Given the description of an element on the screen output the (x, y) to click on. 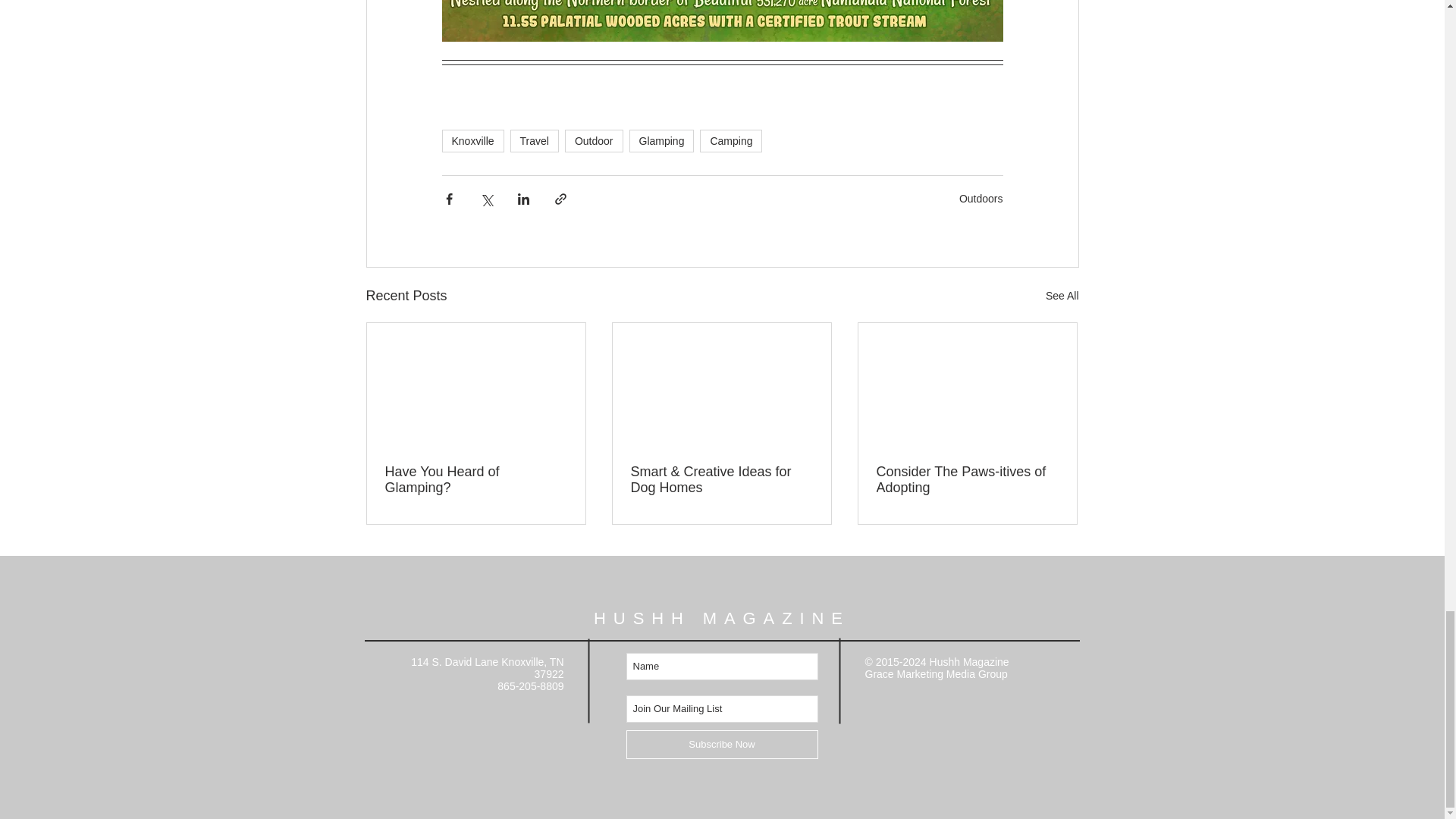
HUSHH MAGAZINE (722, 618)
See All (1061, 296)
Subscribe Now (722, 744)
Consider The Paws-itives of Adopting (967, 480)
Knoxville (472, 140)
Outdoors (981, 198)
Glamping (661, 140)
Travel (535, 140)
Outdoor (593, 140)
Camping (730, 140)
